Given the description of an element on the screen output the (x, y) to click on. 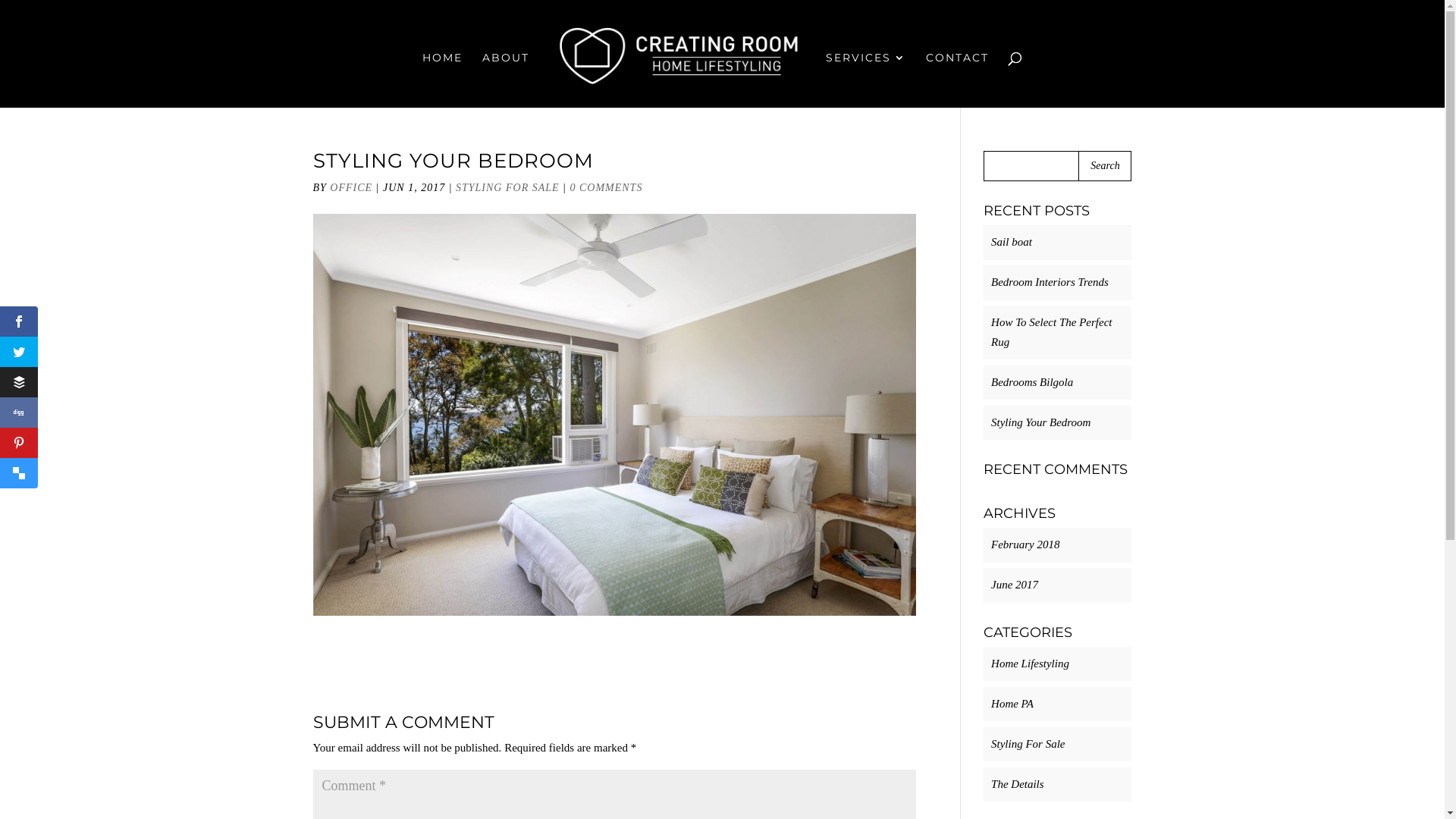
0 COMMENTS Element type: text (605, 187)
The Details Element type: text (1017, 784)
HOME Element type: text (442, 78)
ABOUT Element type: text (505, 78)
OFFICE Element type: text (350, 187)
Styling For Sale Element type: text (1028, 743)
Sail boat Element type: text (1011, 241)
STYLING FOR SALE Element type: text (507, 187)
Bedroom Interiors Trends Element type: text (1049, 282)
CONTACT Element type: text (956, 78)
Home Lifestyling Element type: text (1030, 662)
Search Element type: text (1104, 165)
Home PA Element type: text (1012, 703)
Styling Your Bedroom Element type: text (1040, 421)
SERVICES Element type: text (865, 78)
Bedrooms Bilgola Element type: text (1032, 382)
June 2017 Element type: text (1014, 584)
How To Select The Perfect Rug Element type: text (1051, 332)
February 2018 Element type: text (1025, 544)
